Given the description of an element on the screen output the (x, y) to click on. 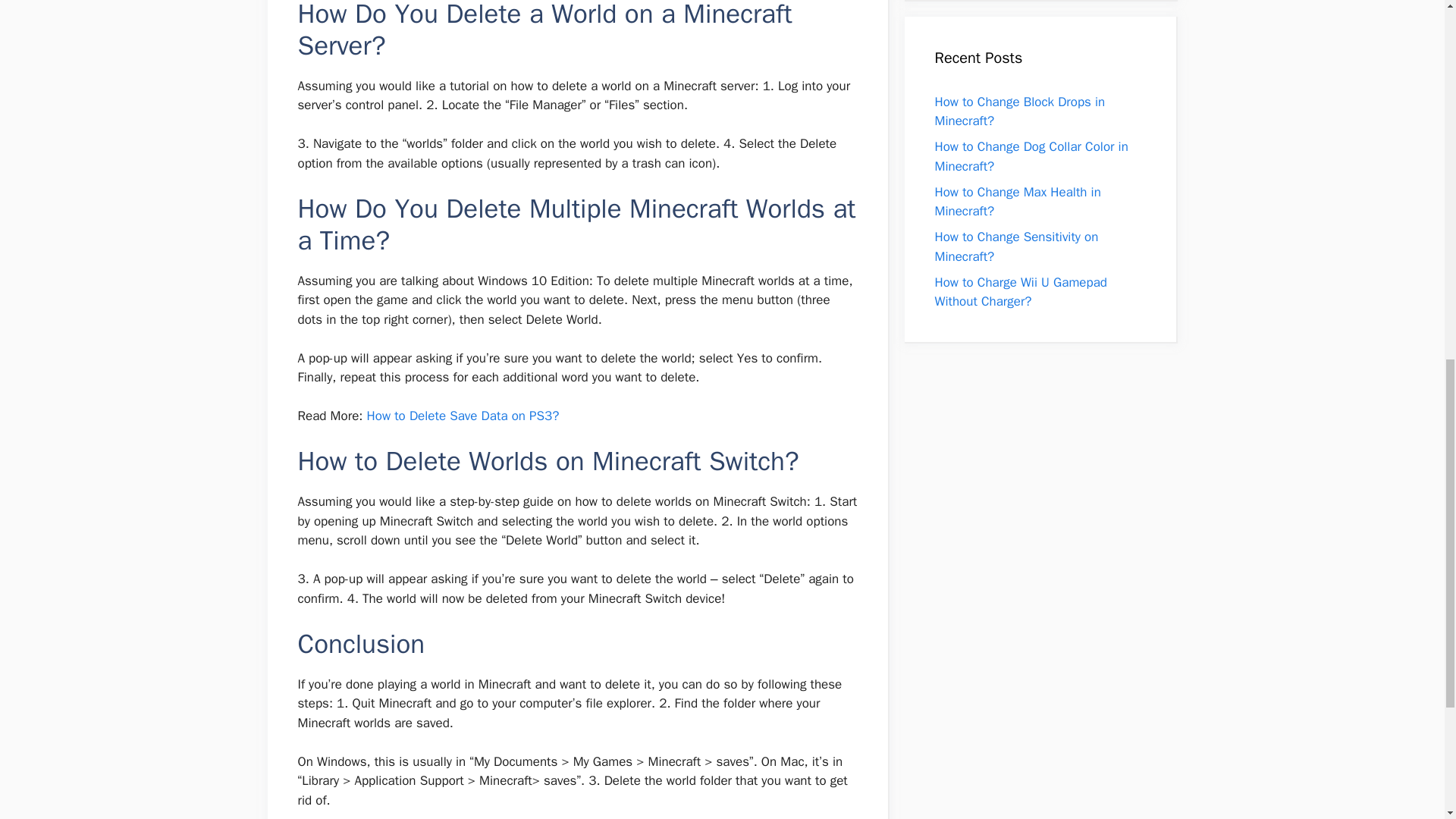
How to Change Sensitivity on Minecraft? (1015, 246)
How to Delete Save Data on PS3? (462, 415)
How to Change Max Health in Minecraft? (1017, 201)
How to Change Block Drops in Minecraft? (1019, 111)
How to Charge Wii U Gamepad Without Charger? (1020, 292)
How to Change Dog Collar Color in Minecraft? (1030, 156)
Scroll back to top (1406, 720)
